Given the description of an element on the screen output the (x, y) to click on. 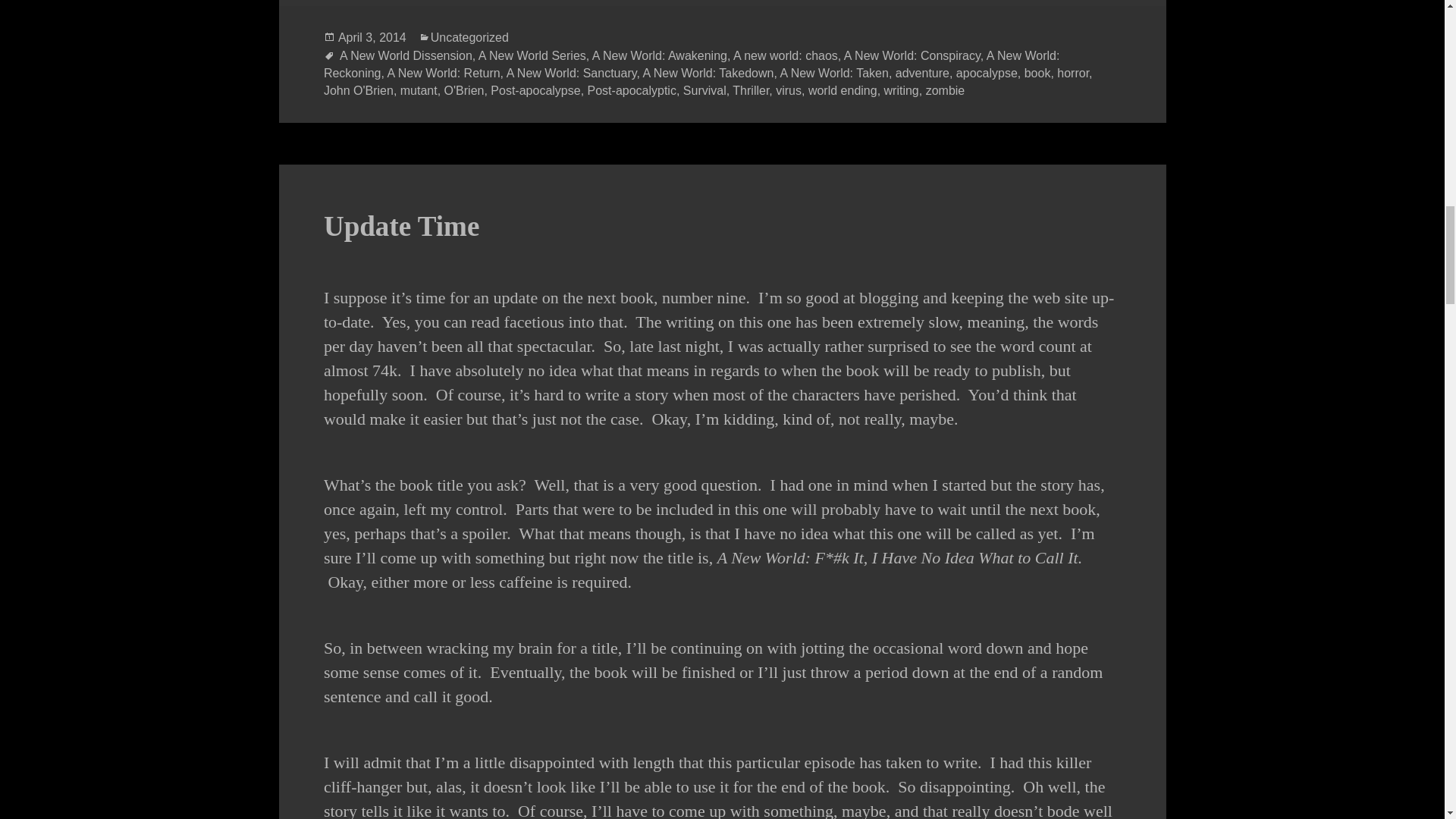
A New World: Reckoning (691, 64)
A New World Dissension (405, 55)
Uncategorized (469, 37)
A New World: Return (443, 72)
April 3, 2014 (371, 37)
adventure (922, 72)
A New World Series (532, 55)
A New World: Awakening (659, 55)
A New World: Takedown (708, 72)
A New World: Taken (833, 72)
A new world: chaos (785, 55)
A New World: Sanctuary (571, 72)
A New World: Conspiracy (911, 55)
